Given the description of an element on the screen output the (x, y) to click on. 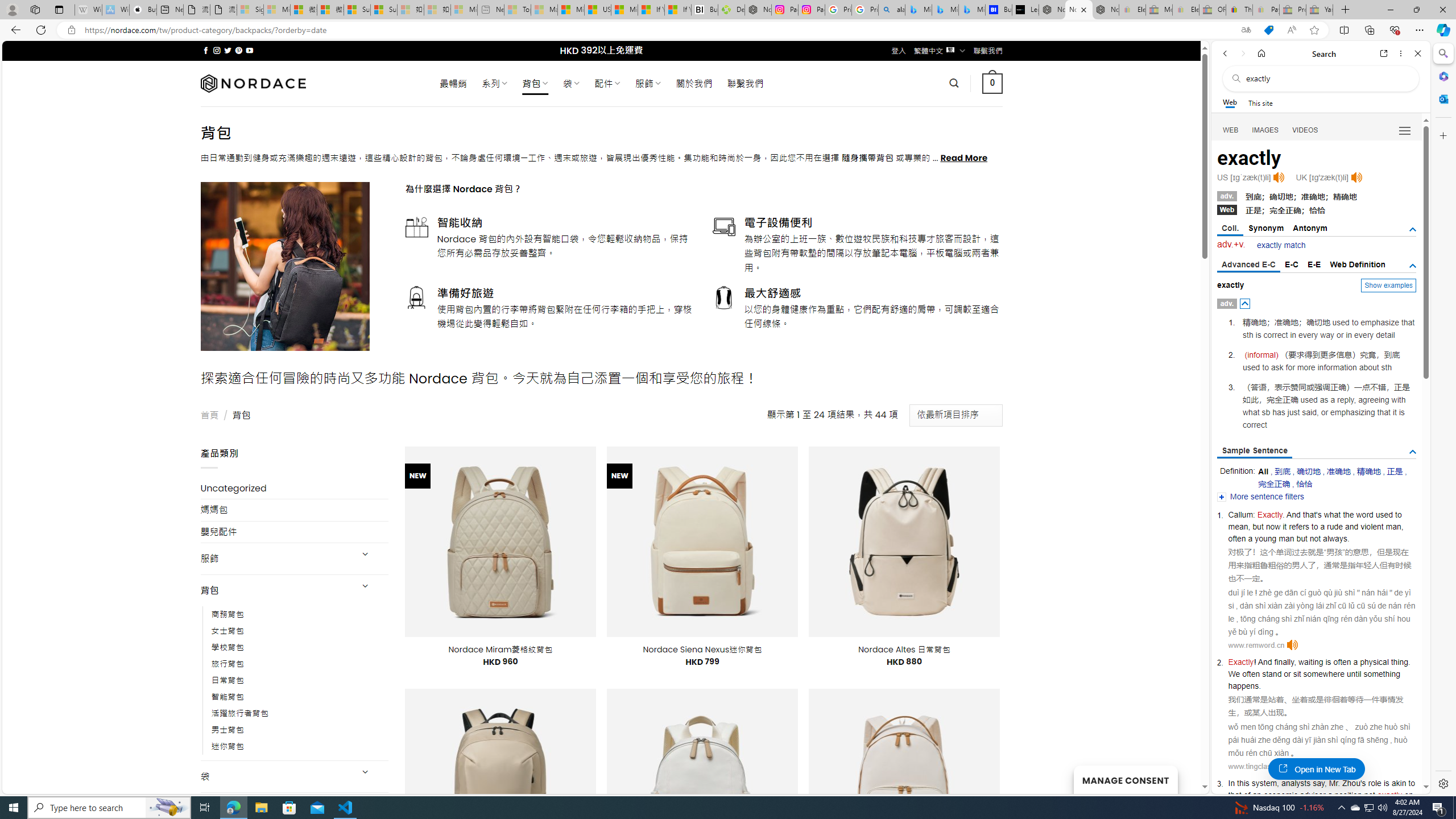
US Heat Deaths Soared To Record High Last Year (597, 9)
Press Room - eBay Inc. - Sleeping (1292, 9)
position (1347, 794)
often (1342, 661)
Microsoft Bing Travel - Shangri-La Hotel Bangkok (971, 9)
